Given the description of an element on the screen output the (x, y) to click on. 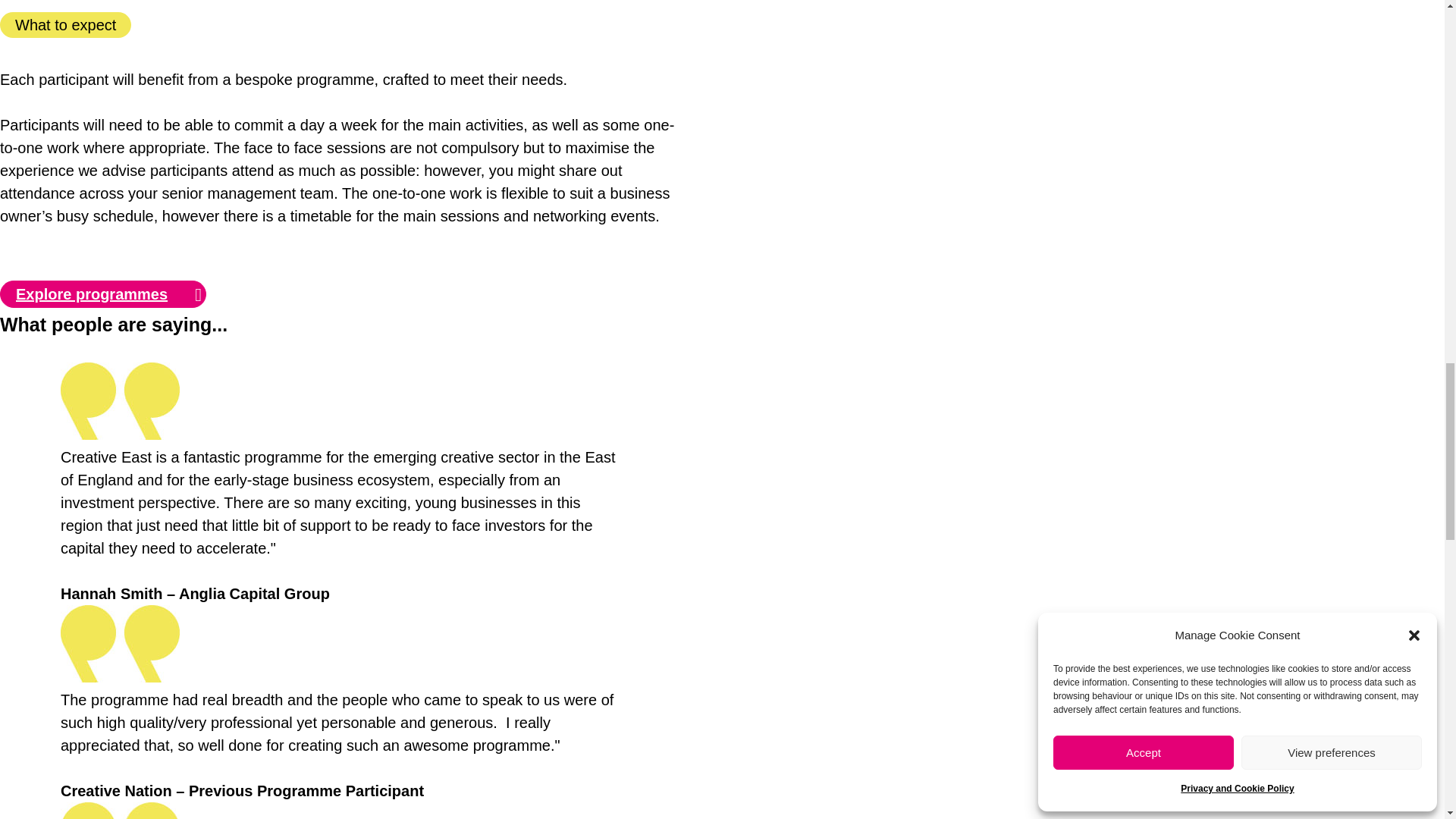
Explore programmes (103, 293)
